Given the description of an element on the screen output the (x, y) to click on. 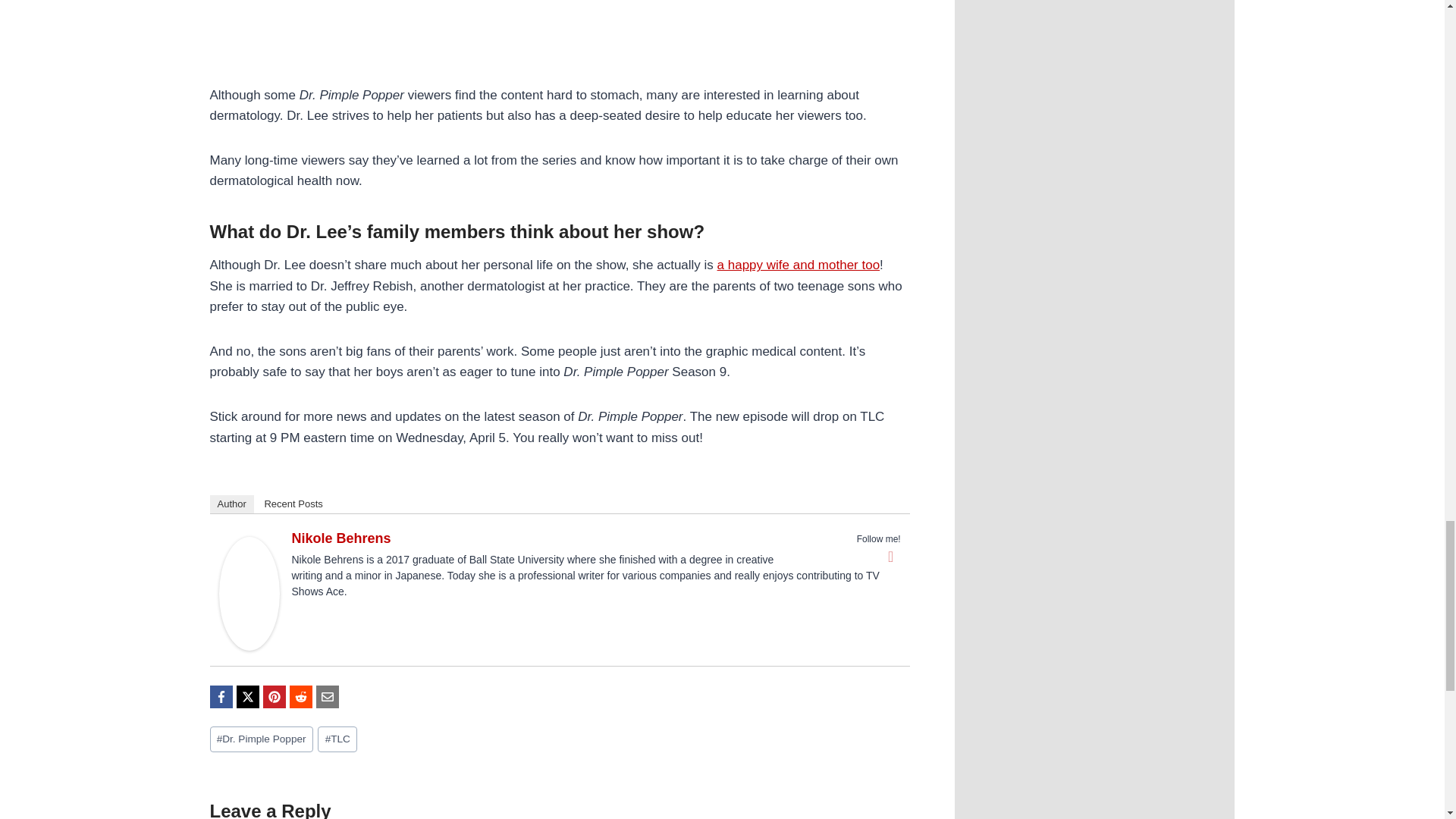
TLC (336, 739)
Twitter (890, 556)
Nikole Behrens (340, 538)
Dr. Pimple Popper (261, 739)
Recent Posts (293, 504)
Author (231, 504)
a happy wife and mother too (798, 264)
